Given the description of an element on the screen output the (x, y) to click on. 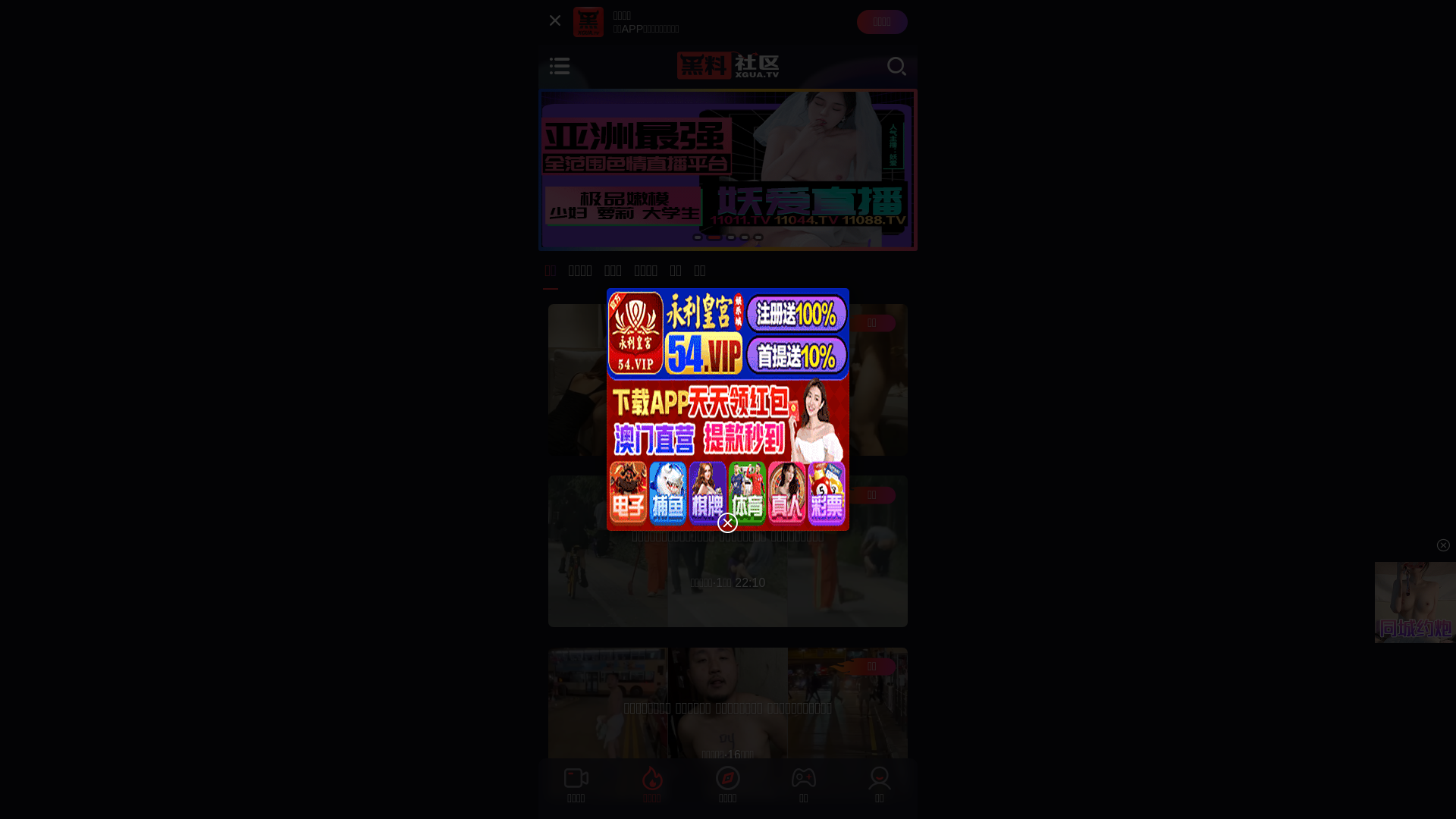
4 Element type: text (744, 236)
1 Element type: text (697, 236)
3 Element type: text (731, 236)
5 Element type: text (758, 236)
2 Element type: text (714, 236)
